Given the description of an element on the screen output the (x, y) to click on. 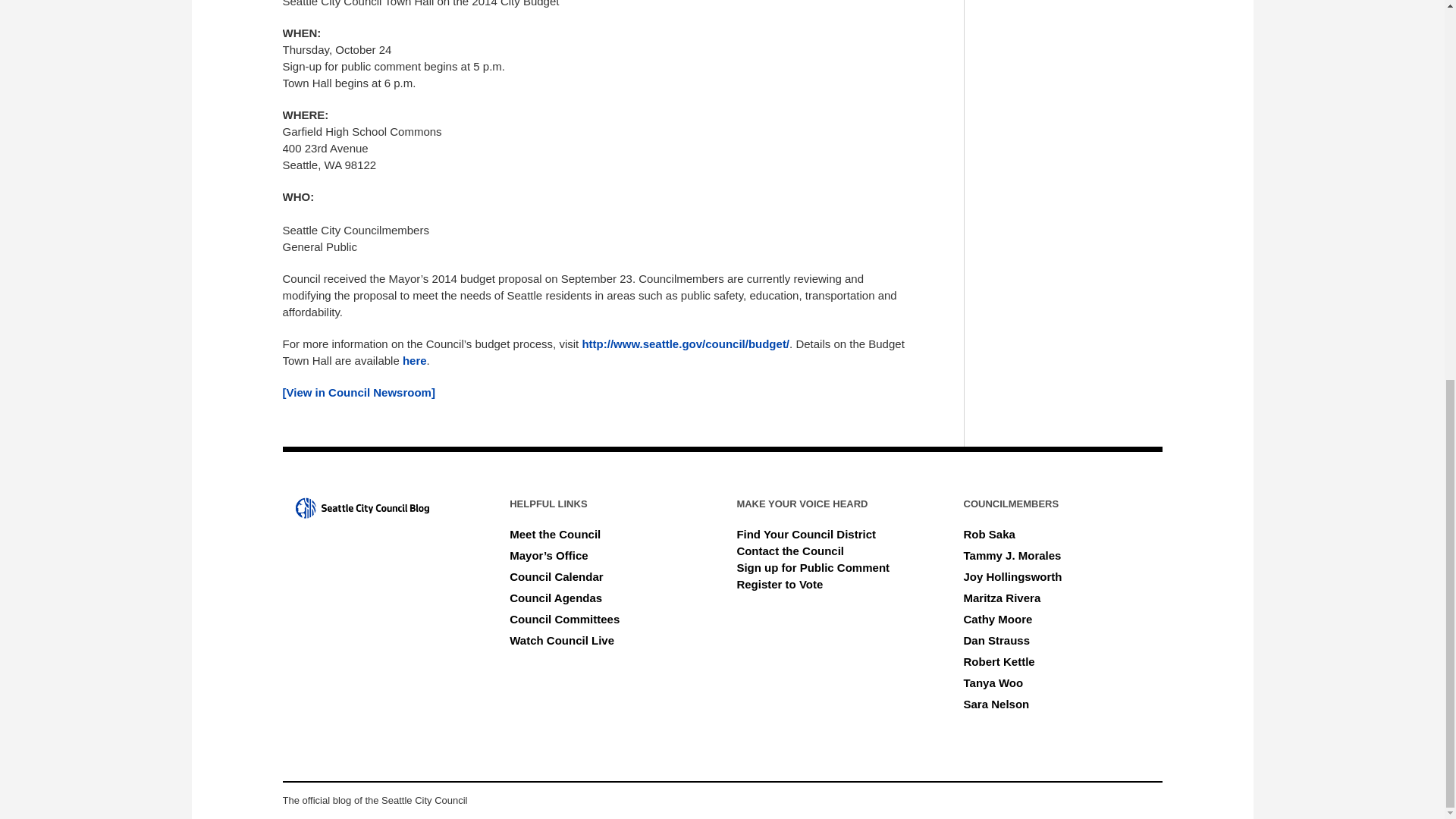
Sign up for Public Comment (812, 567)
Meet the Council (554, 533)
Find Your Council District (806, 533)
Joy Hollingsworth (1012, 576)
Tammy J. Morales (1012, 554)
Register to Vote (779, 584)
Maritza Rivera (1002, 597)
Rob Saka (988, 533)
Watch Council Live (561, 640)
Council Agendas (555, 597)
Contact the Council (790, 550)
here (414, 359)
Council Committees (564, 618)
Council Calendar (555, 576)
